Given the description of an element on the screen output the (x, y) to click on. 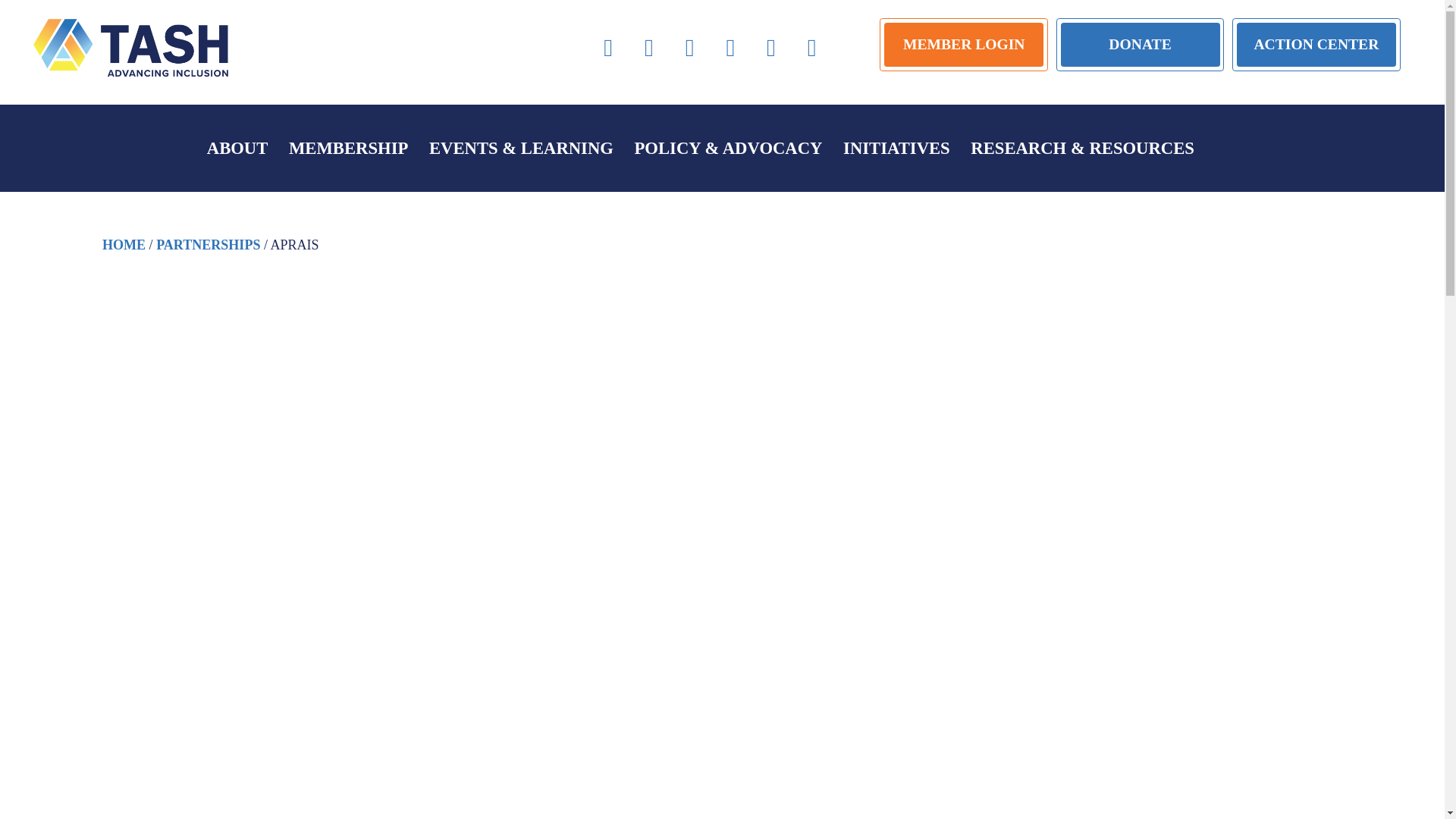
INITIATIVES (896, 148)
Go to Partnerships. (207, 244)
ACTION CENTER (1316, 44)
Action Center (1316, 44)
Donate (1140, 44)
TASH logo (130, 47)
ABOUT (236, 148)
Go to Home. (123, 244)
Member login (963, 44)
DONATE (1140, 44)
